Given the description of an element on the screen output the (x, y) to click on. 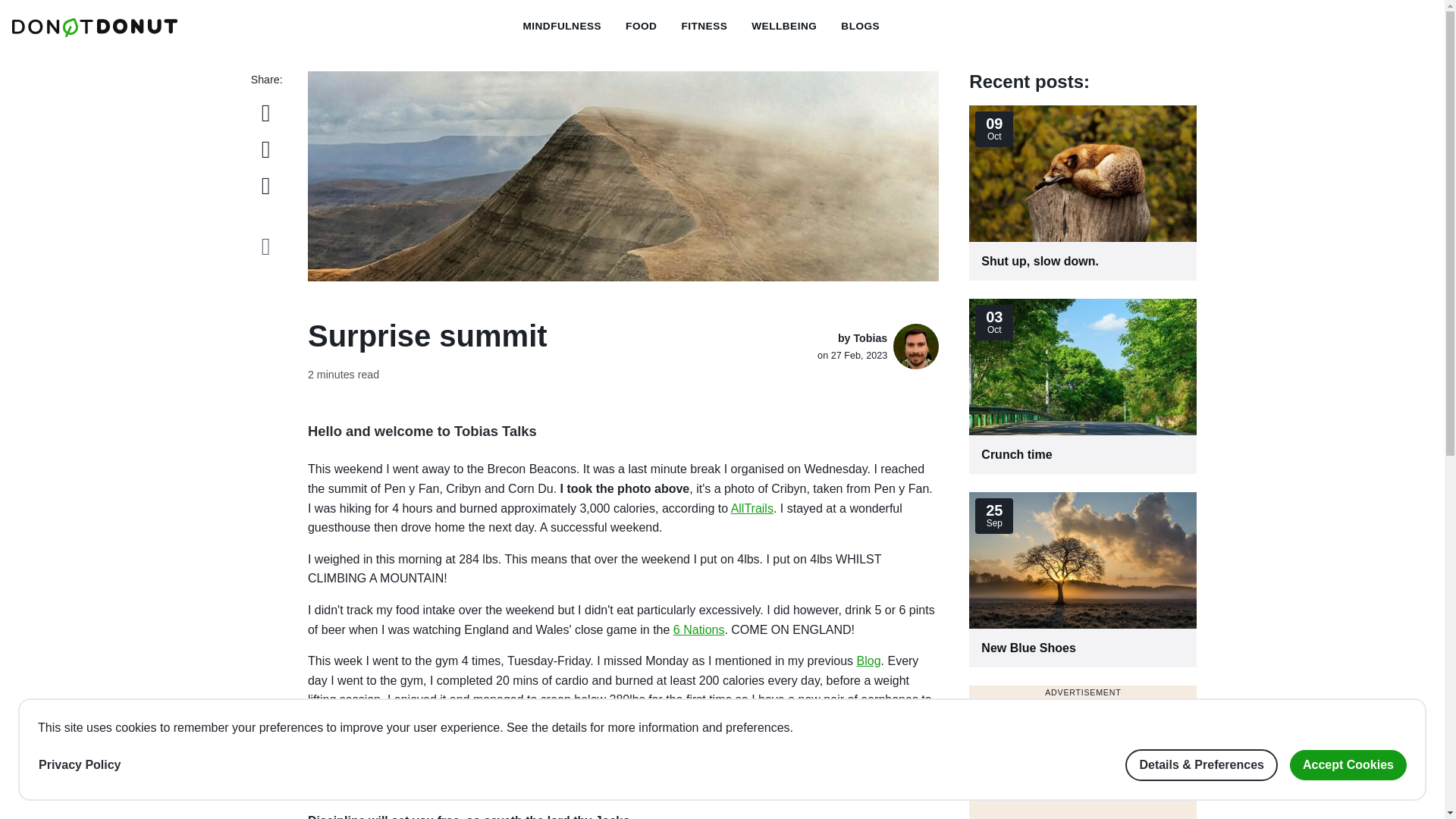
Privacy Policy (1082, 579)
Wellbeing (79, 765)
mindfulness (783, 26)
Fitness (561, 26)
WELLBEING (703, 26)
FITNESS (1082, 192)
FOOD (783, 26)
Food (703, 26)
